Given the description of an element on the screen output the (x, y) to click on. 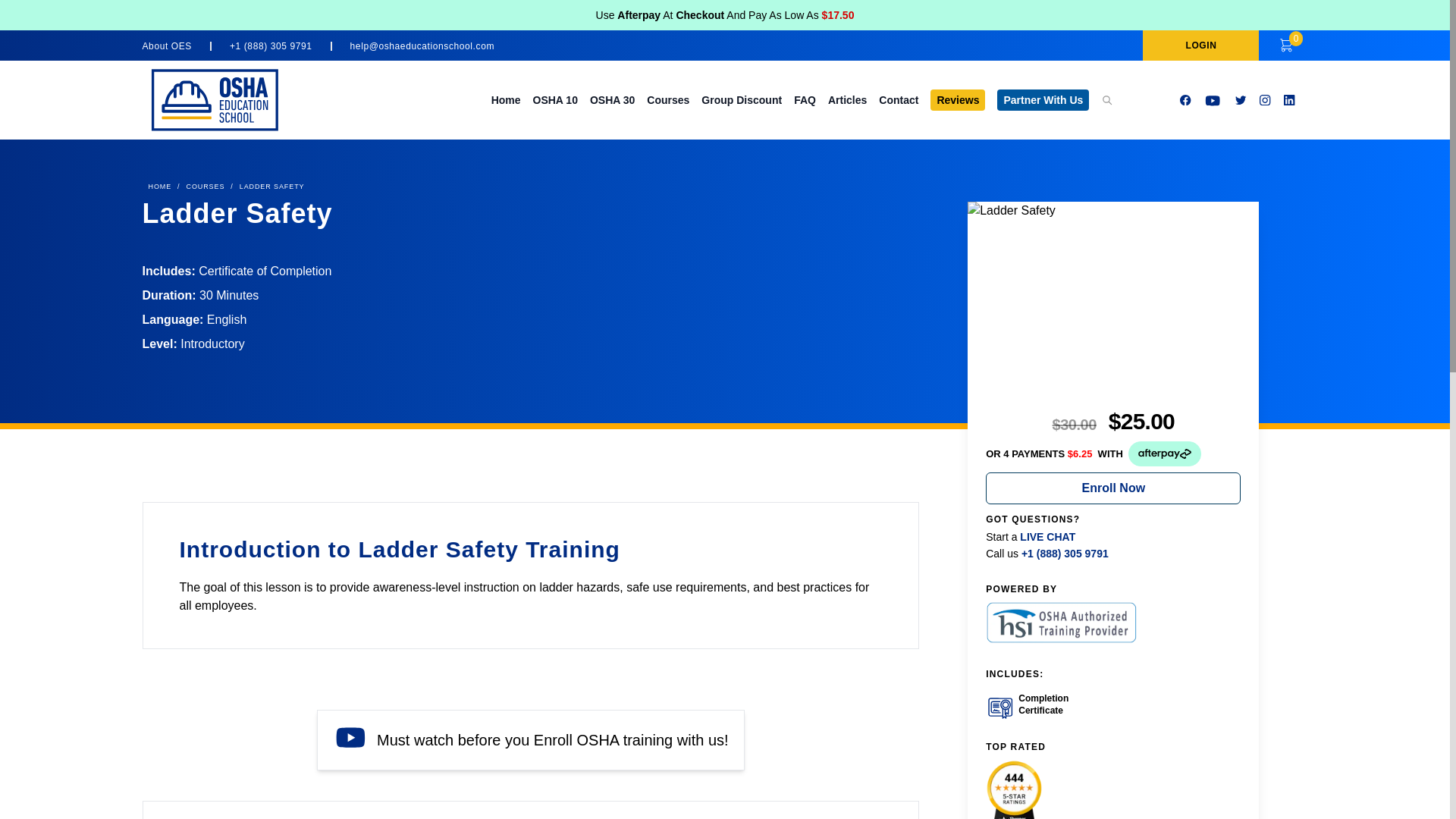
Reviews (957, 99)
Go to Home Page (159, 186)
Contact (898, 99)
Start a LIVE CHAT (1030, 536)
Enroll Now (1112, 488)
COURSES (205, 186)
Partner With Us (1043, 99)
LOGIN (1200, 45)
0 (1286, 45)
Group Discount (741, 99)
HOME (159, 186)
Articles (847, 99)
Courses (667, 99)
FAQ (804, 99)
About OES (176, 45)
